Given the description of an element on the screen output the (x, y) to click on. 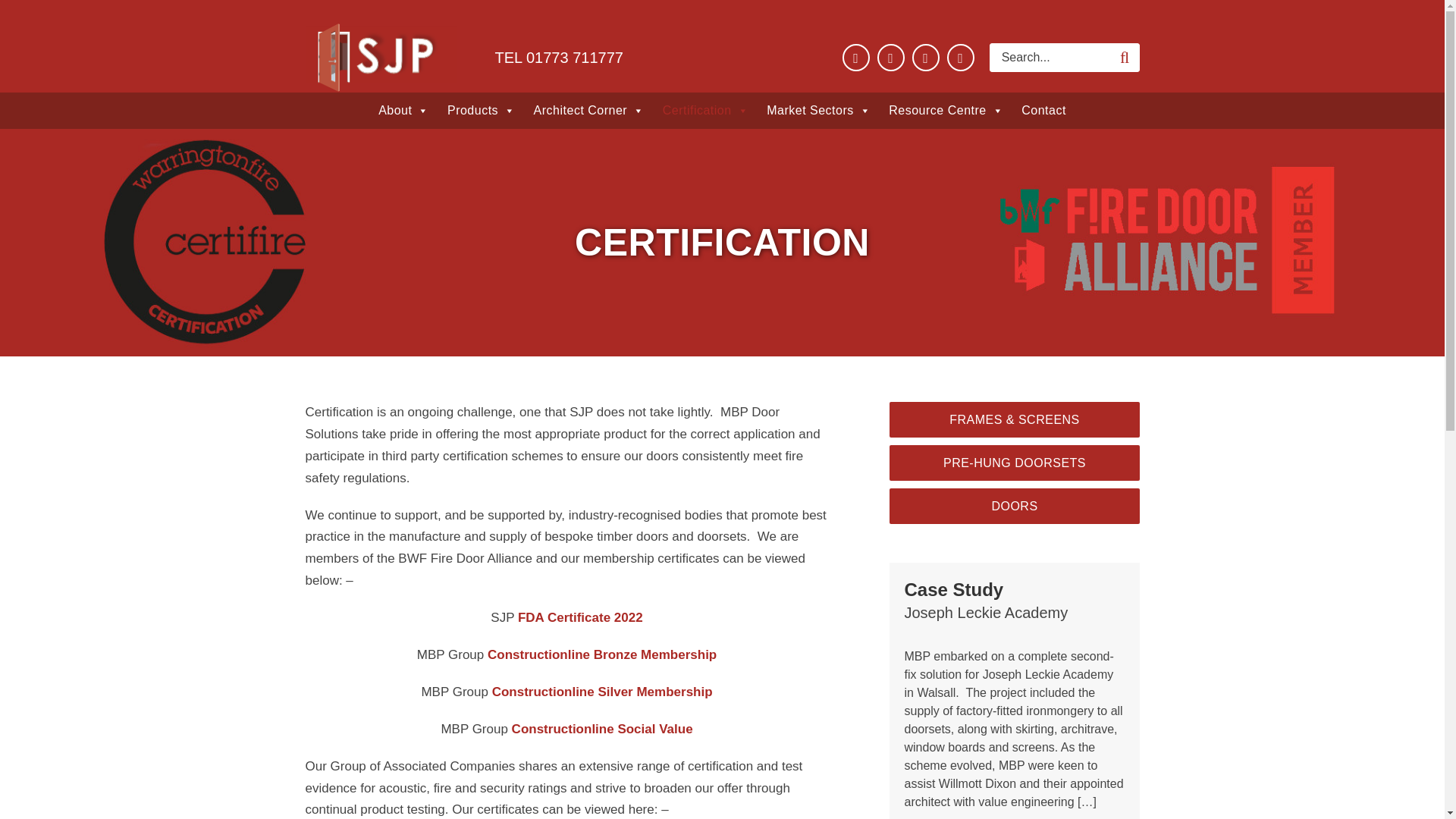
01773 711777 (574, 57)
About (403, 110)
Products (481, 110)
Architect Corner (588, 110)
Certification (705, 110)
